Given the description of an element on the screen output the (x, y) to click on. 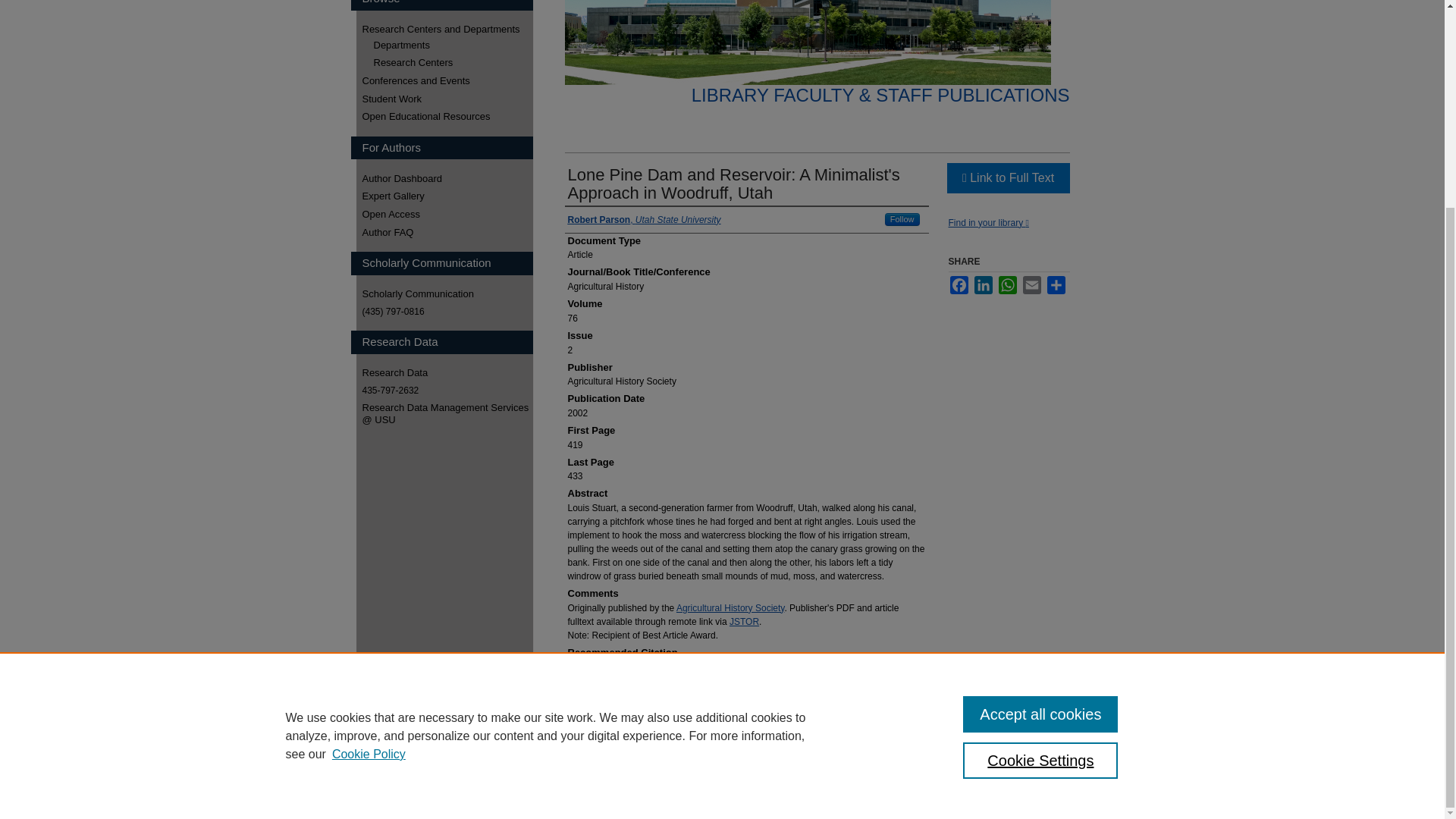
Email (1031, 285)
LinkedIn (982, 285)
Follow (902, 219)
Share (1055, 285)
Follow Robert Parson (902, 219)
JSTOR (743, 621)
Link to Full Text (1007, 177)
Agricultural History Society (730, 607)
Link opens in new window (1007, 177)
WhatsApp (1006, 285)
Robert Parson, Utah State University (643, 219)
Find in your library (987, 222)
Facebook (958, 285)
OpenURL (987, 222)
